Given the description of an element on the screen output the (x, y) to click on. 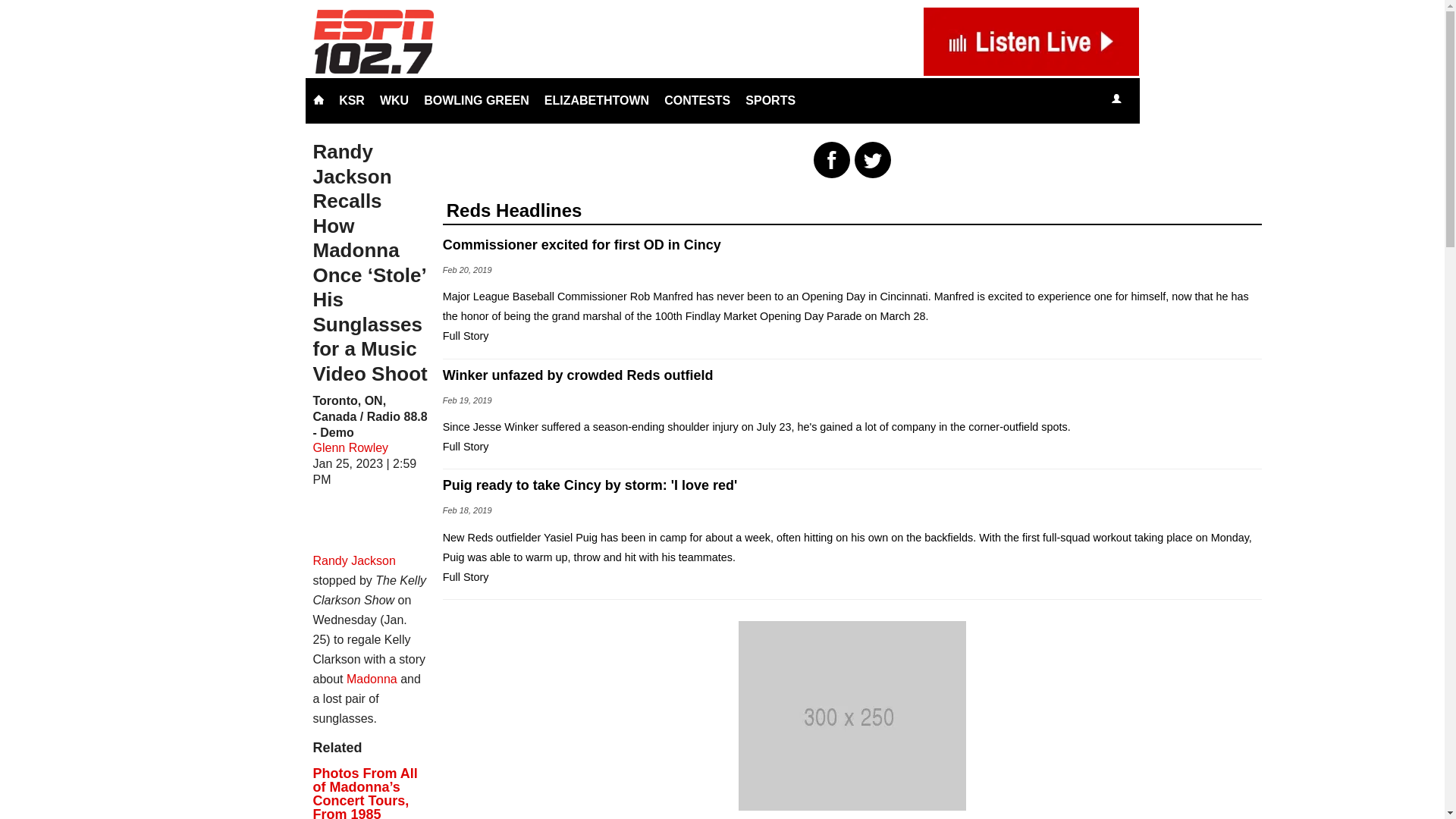
Madonna (371, 678)
BOWLING GREEN (476, 100)
CONTESTS (697, 100)
SPORTS (770, 100)
ELIZABETHTOWN (596, 100)
Sign In (1116, 99)
Sign In (1115, 100)
Glenn Rowley (350, 447)
KSR (351, 100)
Randy Jackson (353, 560)
